Given the description of an element on the screen output the (x, y) to click on. 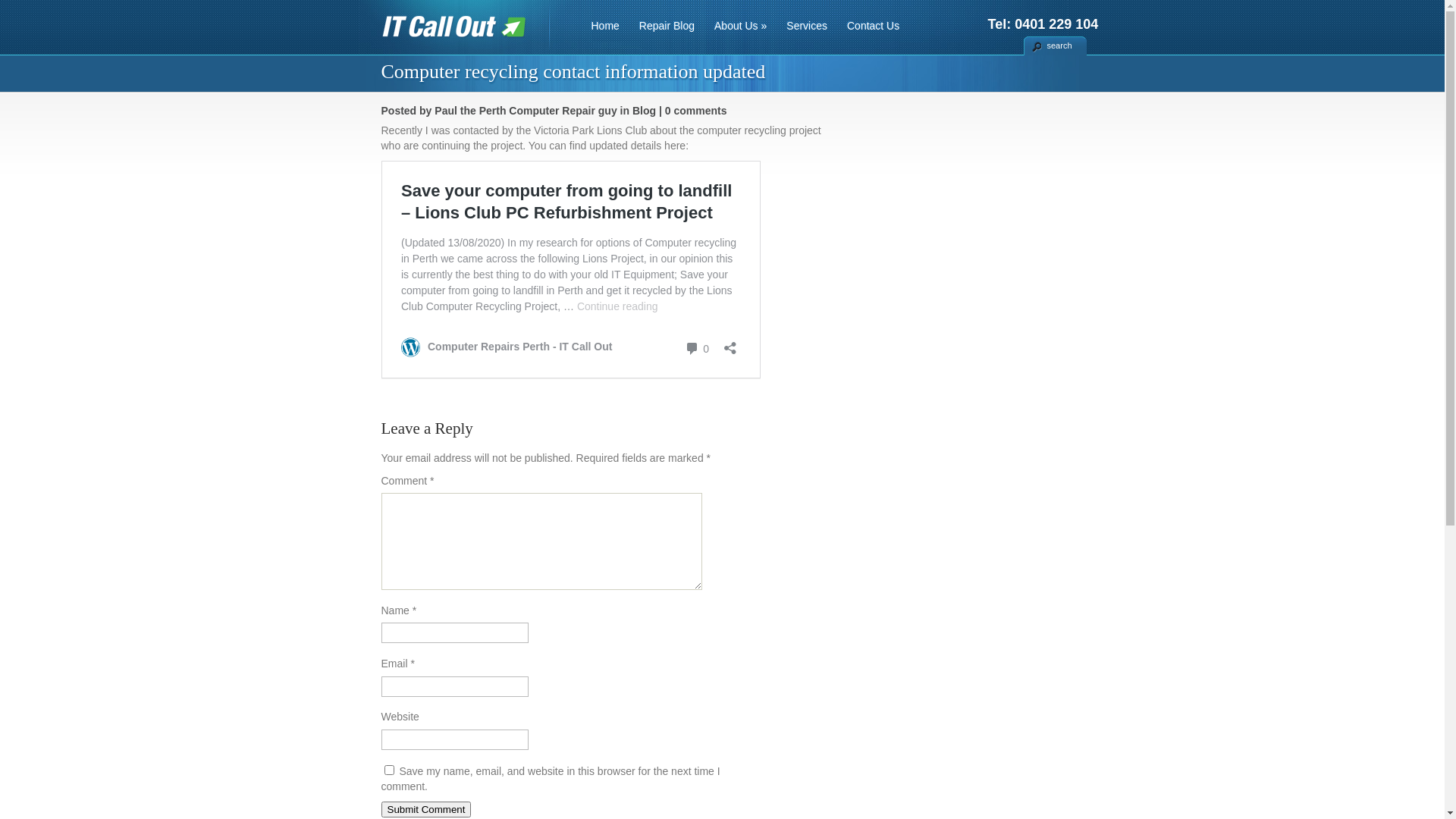
Home Element type: text (599, 33)
0 comments Element type: text (696, 110)
Paul the Perth Computer Repair guy Element type: text (525, 110)
search Element type: text (1054, 45)
Services Element type: text (801, 33)
Repair Blog Element type: text (661, 33)
Submit Comment Element type: text (425, 809)
Blog Element type: text (643, 110)
Contact Us Element type: text (867, 33)
